Given the description of an element on the screen output the (x, y) to click on. 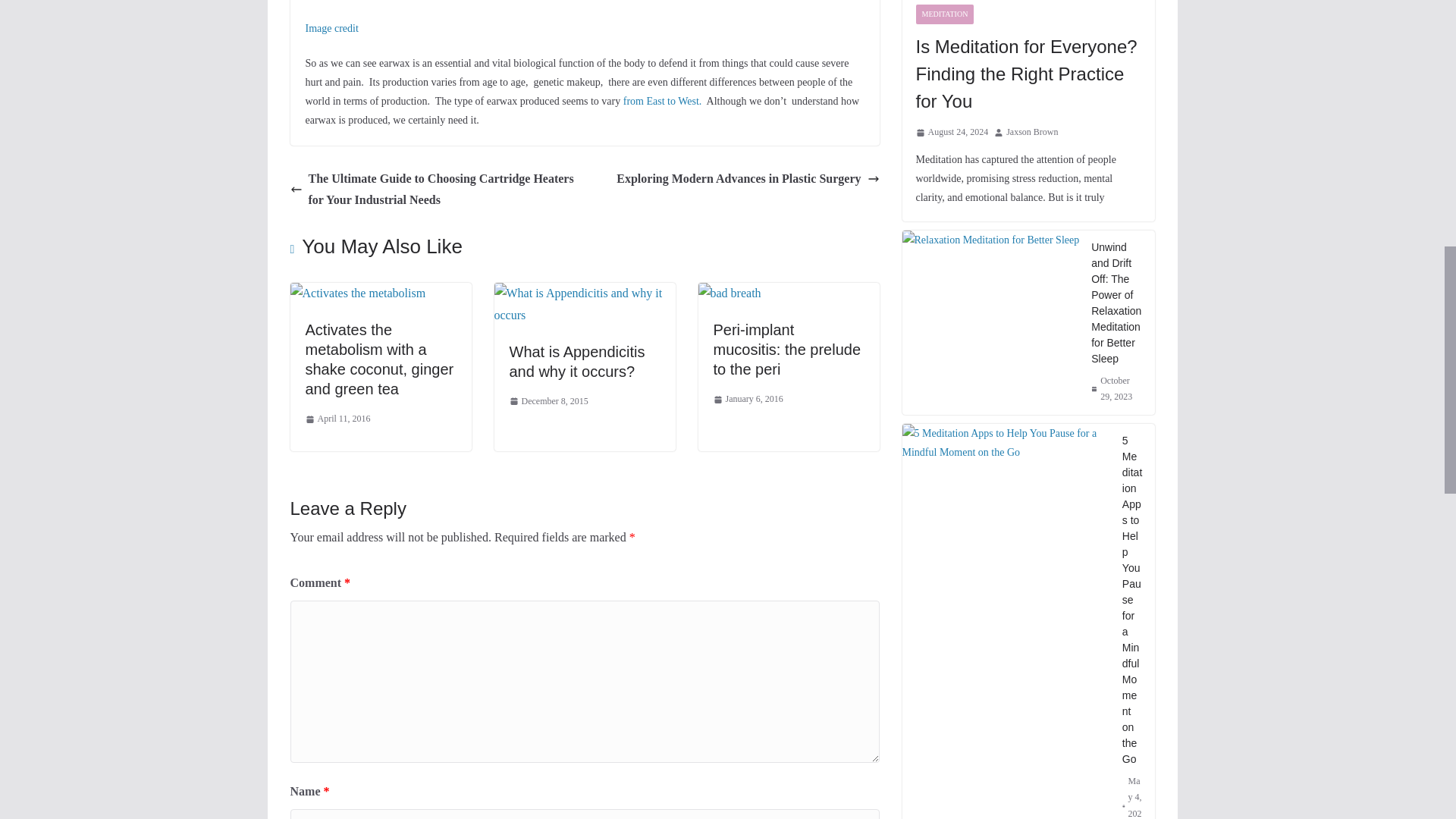
from East to West. (662, 101)
What is Appendicitis and why it occurs? (577, 361)
Peri-implant mucositis: the prelude to the peri (728, 292)
Image credit (331, 28)
Peri-implant mucositis: the prelude to the peri (786, 349)
December 8, 2015 (548, 401)
What is Appendicitis and why it occurs? (577, 361)
9:39 am (548, 401)
Exploring Modern Advances in Plastic Surgery (747, 179)
